Given the description of an element on the screen output the (x, y) to click on. 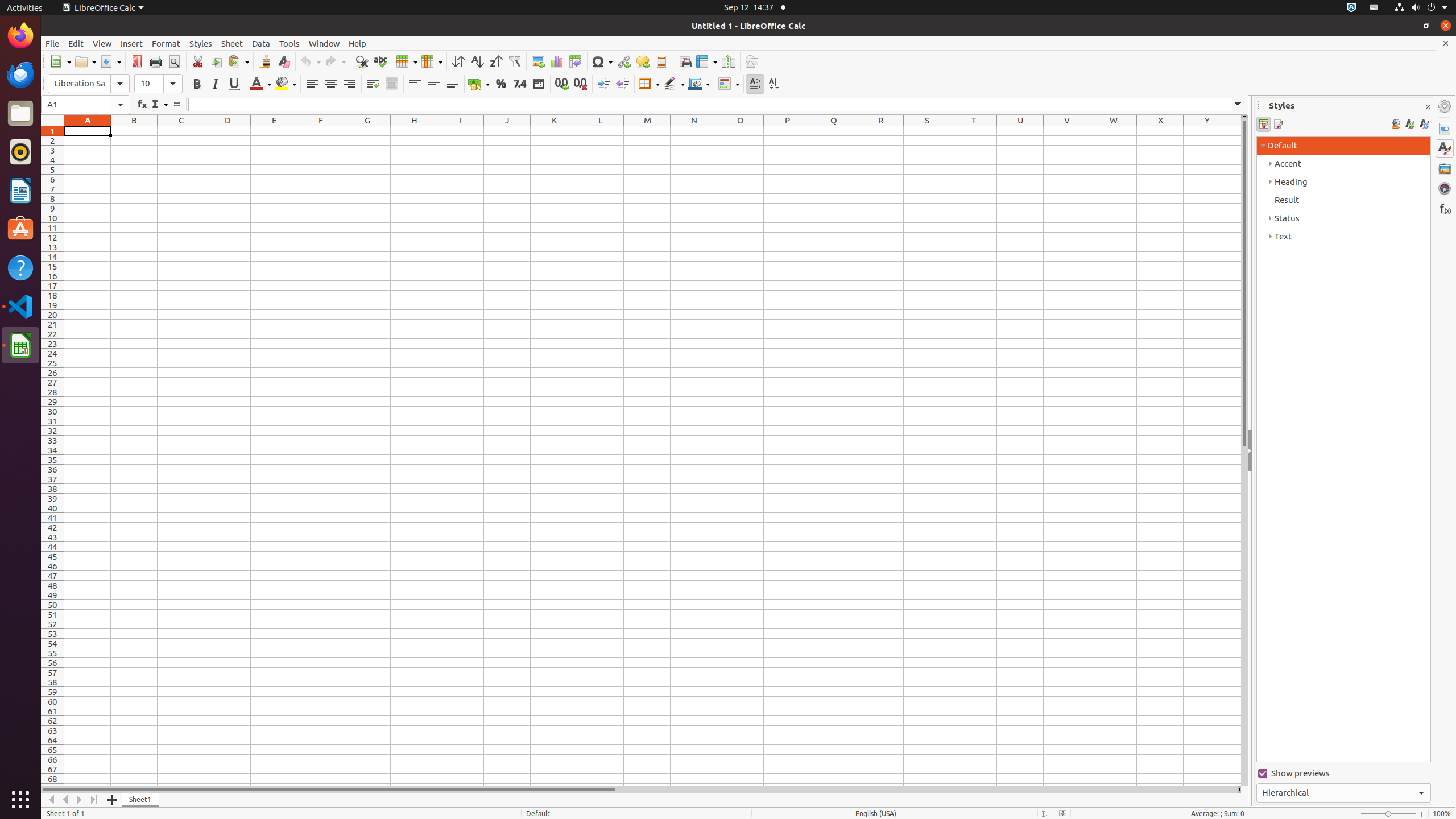
Cell Styles Element type: push-button (1263, 123)
Open Element type: push-button (84, 61)
X1 Element type: table-cell (1159, 130)
:1.72/StatusNotifierItem Element type: menu (1350, 7)
G1 Element type: table-cell (367, 130)
